Given the description of an element on the screen output the (x, y) to click on. 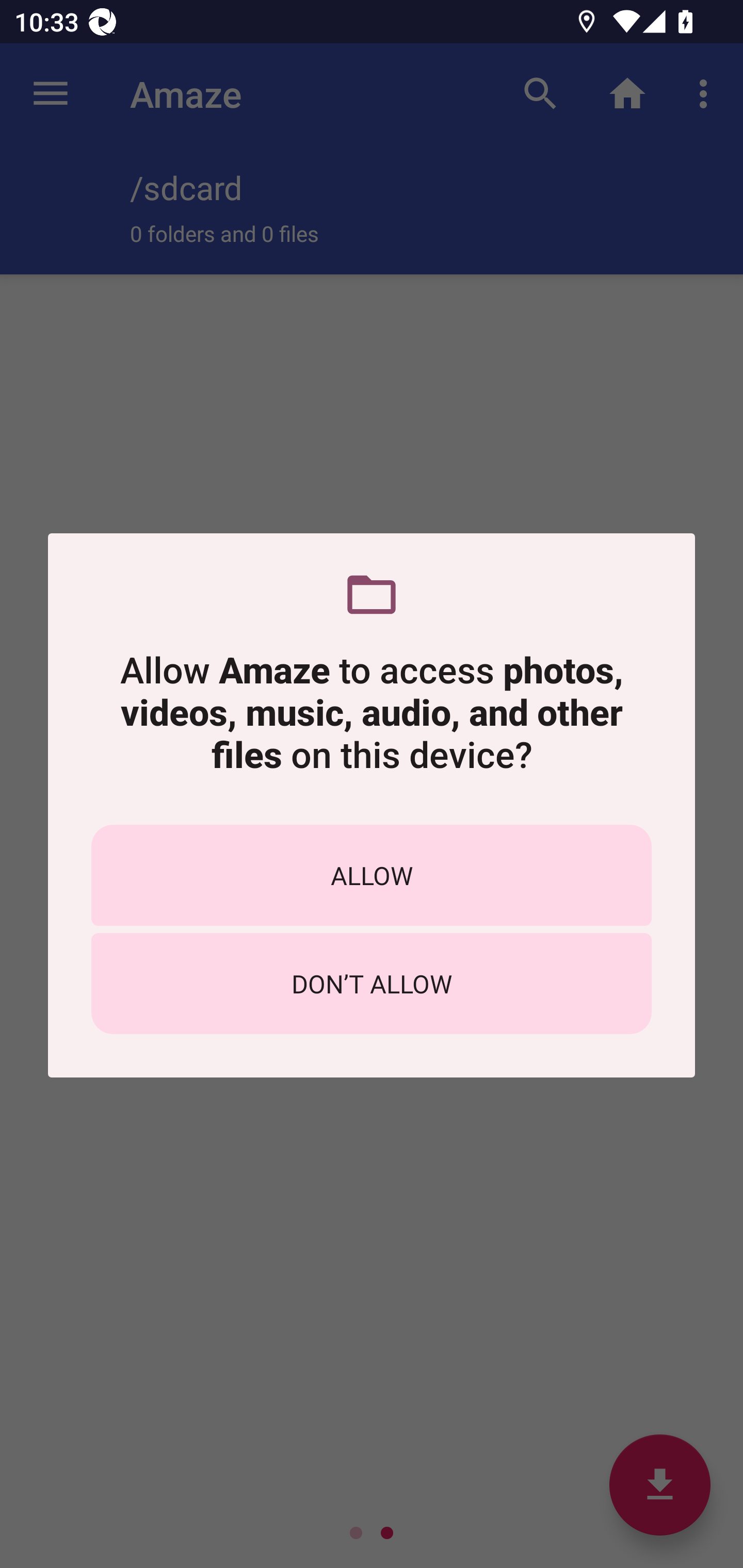
ALLOW (371, 874)
DON’T ALLOW (371, 983)
